Given the description of an element on the screen output the (x, y) to click on. 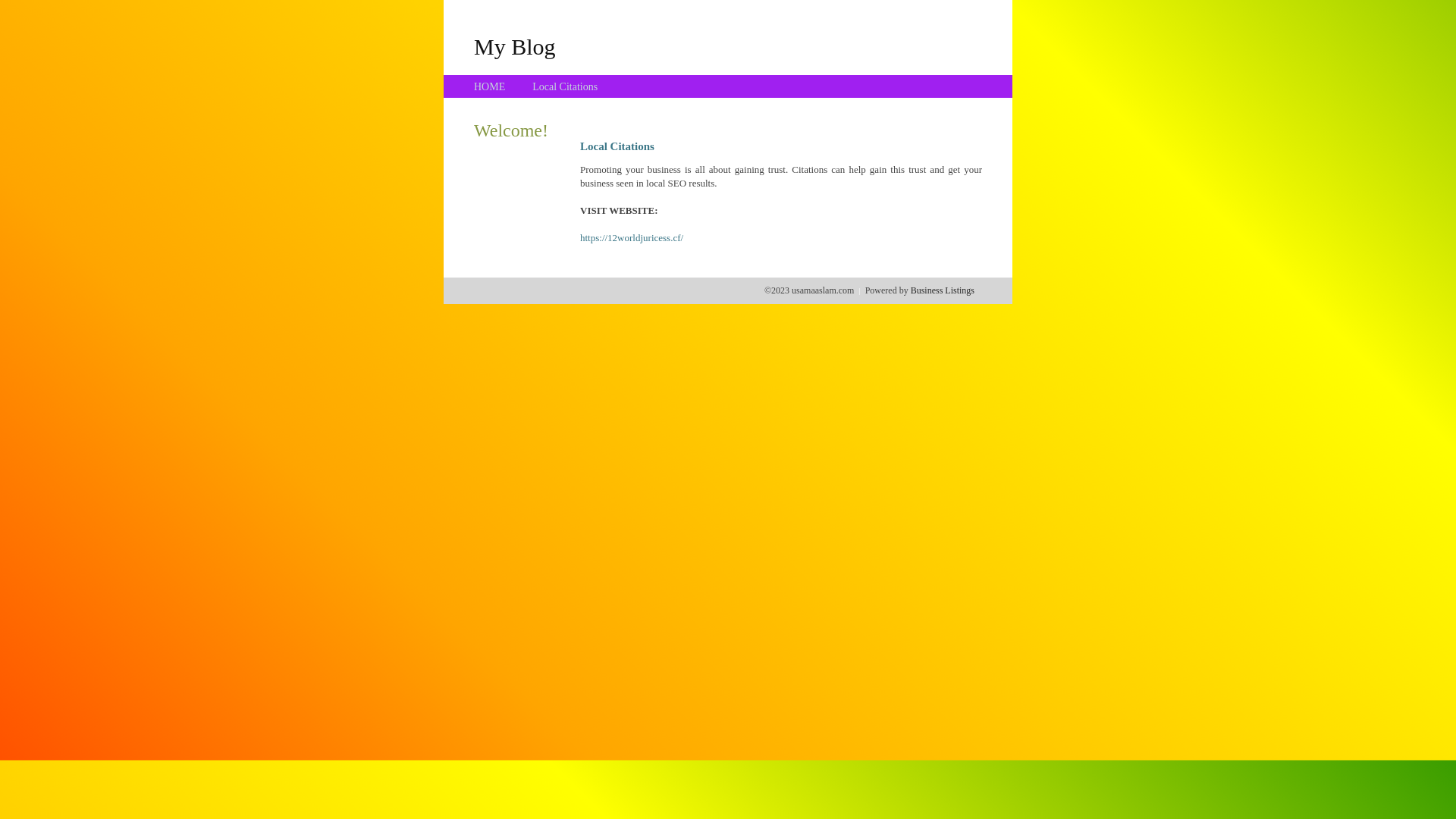
My Blog Element type: text (514, 46)
Local Citations Element type: text (564, 86)
HOME Element type: text (489, 86)
https://12worldjuricess.cf/ Element type: text (631, 237)
Business Listings Element type: text (942, 290)
